Given the description of an element on the screen output the (x, y) to click on. 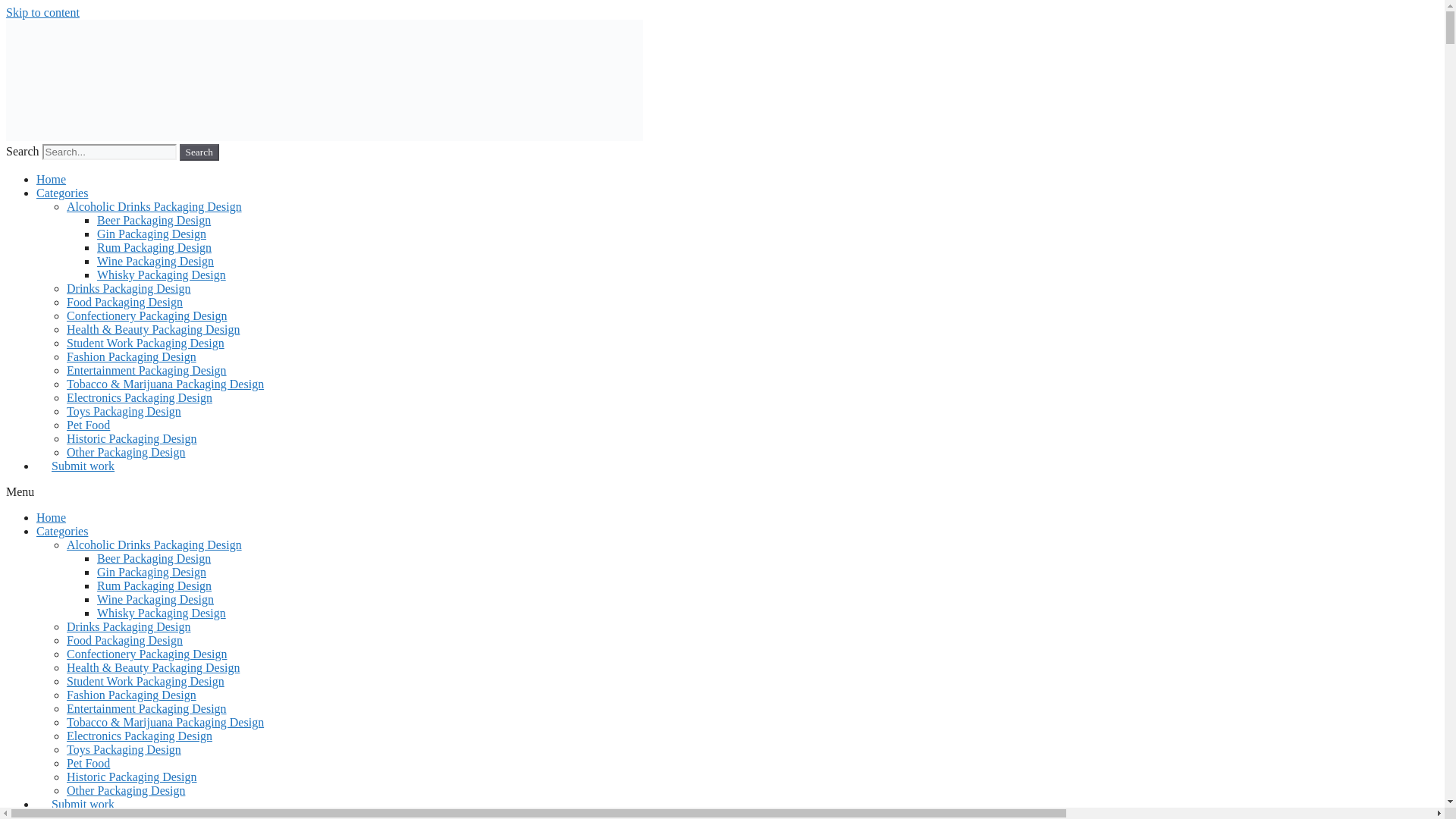
Historic Packaging Design (131, 438)
Pet Food (88, 424)
Fashion Packaging Design (131, 356)
Drinks Packaging Design (128, 626)
Alcoholic Drinks Packaging Design (153, 205)
Categories (61, 530)
Confectionery Packaging Design (146, 315)
Beer Packaging Design (154, 219)
Beer Packaging Design (154, 558)
Drinks Packaging Design (128, 287)
